Given the description of an element on the screen output the (x, y) to click on. 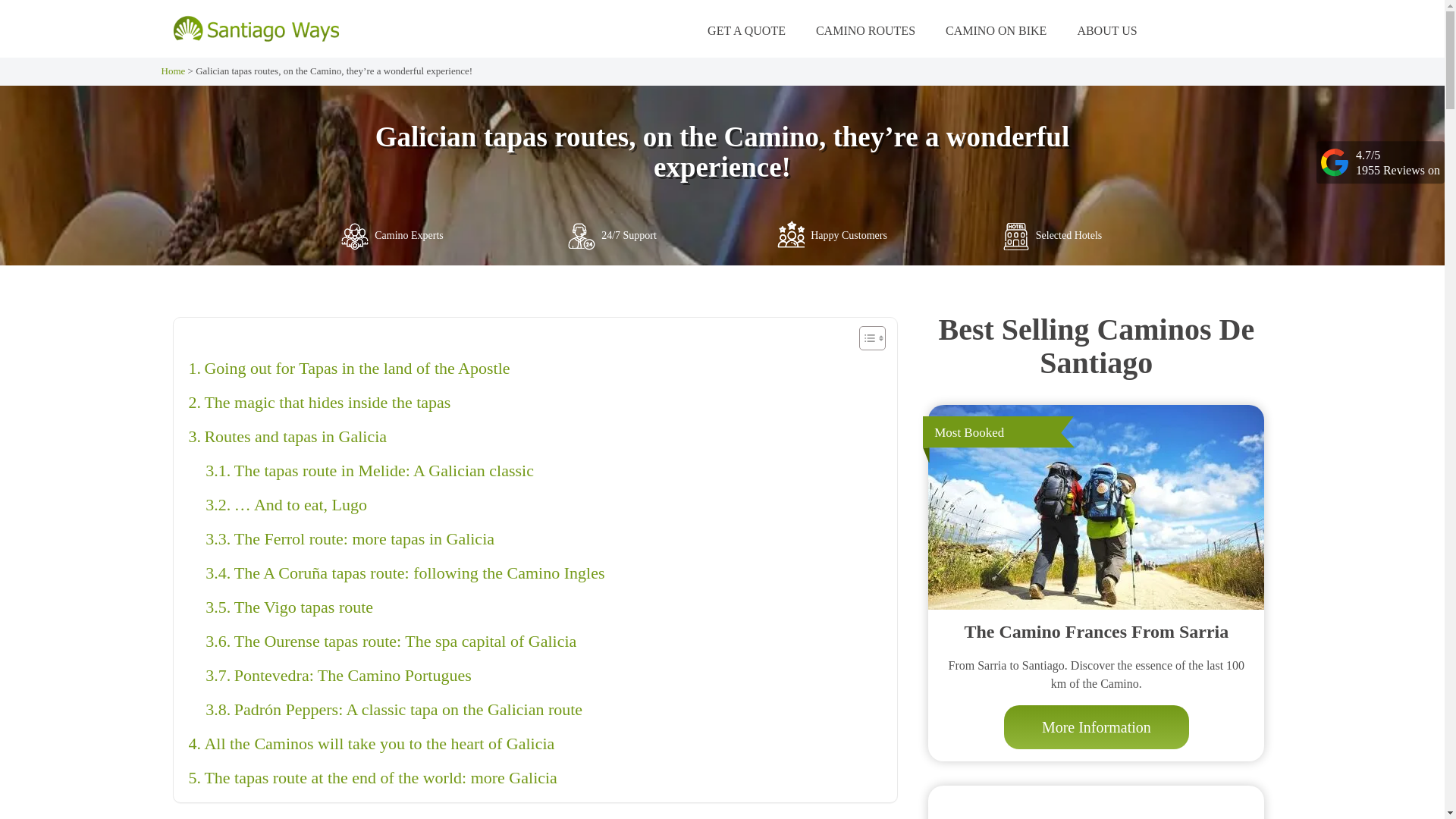
Agencia de Viajes Mejor Valorada del Camino de Santiago (255, 28)
The Vigo tapas route (288, 606)
CAMINO ON BIKE (995, 30)
Going out for Tapas in the land of the Apostle (348, 367)
1955 Reviews on (1397, 169)
The Vigo tapas route (288, 606)
The Ferrol route: more tapas in Galicia (350, 538)
The magic that hides inside the tapas (318, 401)
Pontevedra: The Camino Portugues (337, 675)
ABOUT US (1107, 30)
The tapas route at the end of the world: more Galicia (371, 777)
The Ourense tapas route: The spa capital of Galicia (390, 641)
GET A QUOTE (746, 30)
Pontevedra: The Camino Portugues (337, 675)
The magic that hides inside the tapas (318, 401)
